Given the description of an element on the screen output the (x, y) to click on. 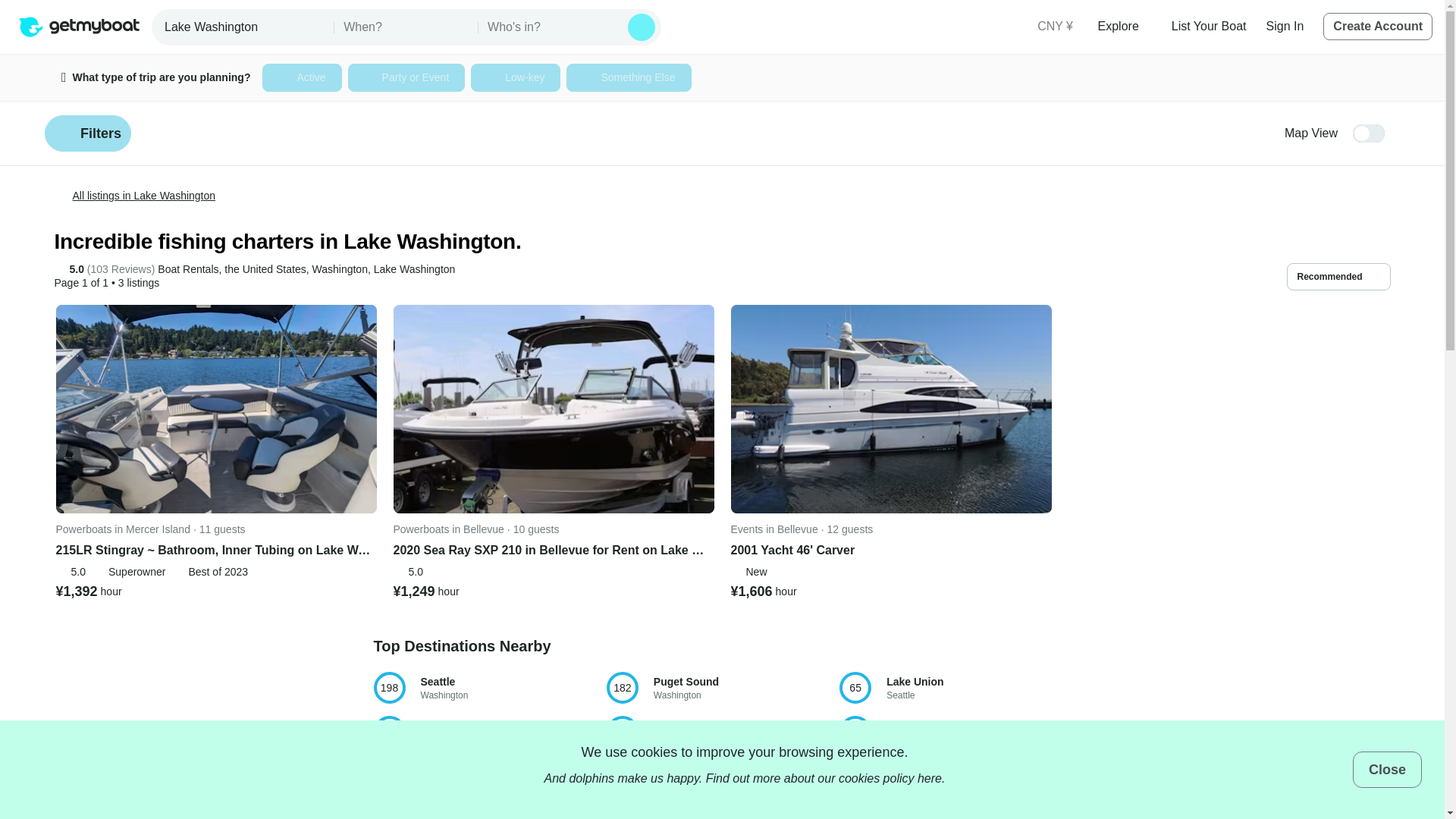
cookies policy here (890, 778)
Explore (1123, 25)
Search (641, 26)
the United States (264, 269)
Party or Event (406, 77)
Low-key (515, 77)
List Your Boat (1209, 26)
Sign In (1285, 26)
Close (1387, 769)
